Given the description of an element on the screen output the (x, y) to click on. 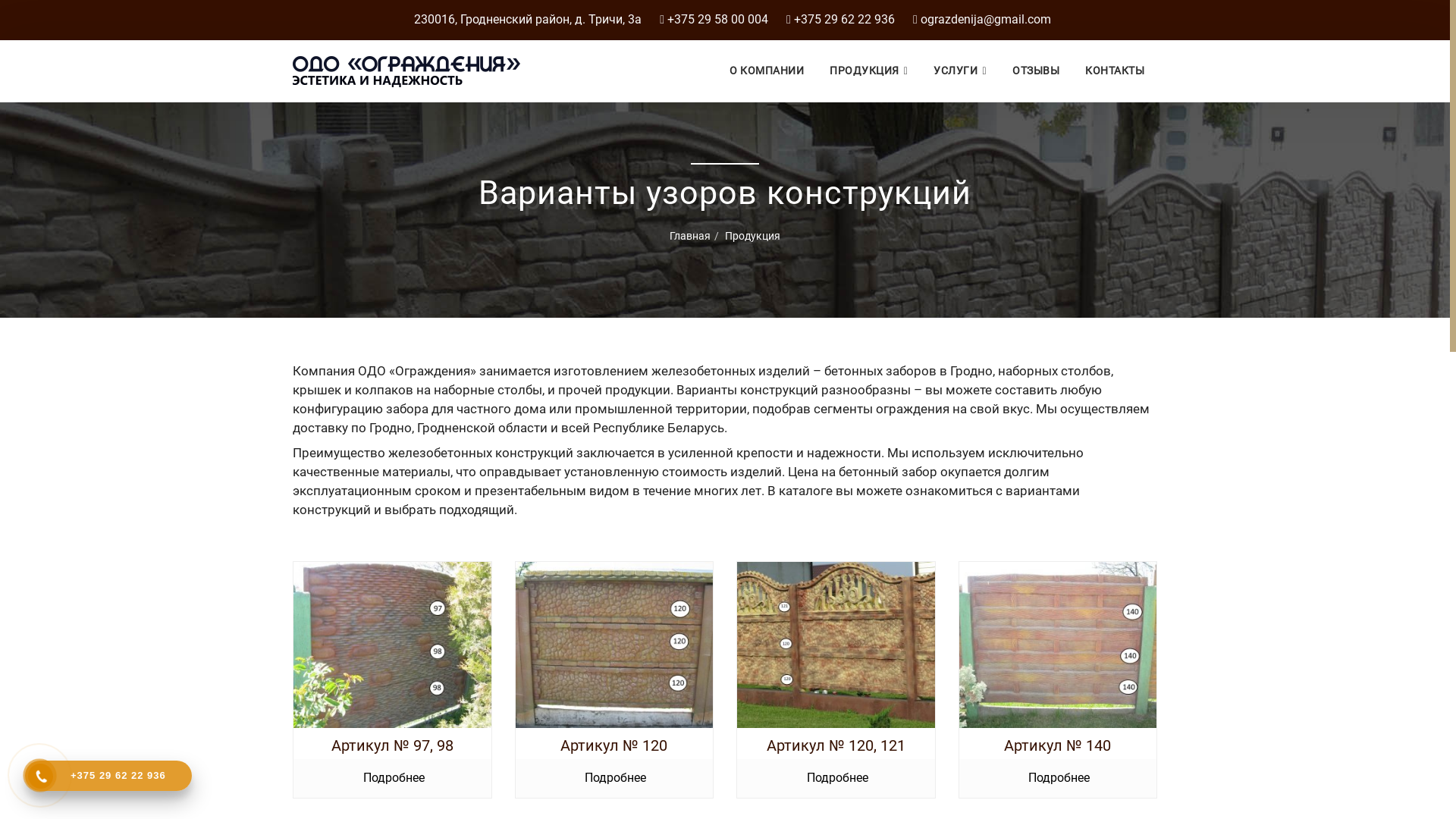
+375 29 62 22 936 Element type: text (843, 19)
ograzdenija@gmail.com Element type: text (985, 19)
+375 29 58 00 004 Element type: text (717, 19)
+375 29 62 22 936 Element type: text (108, 775)
